Given the description of an element on the screen output the (x, y) to click on. 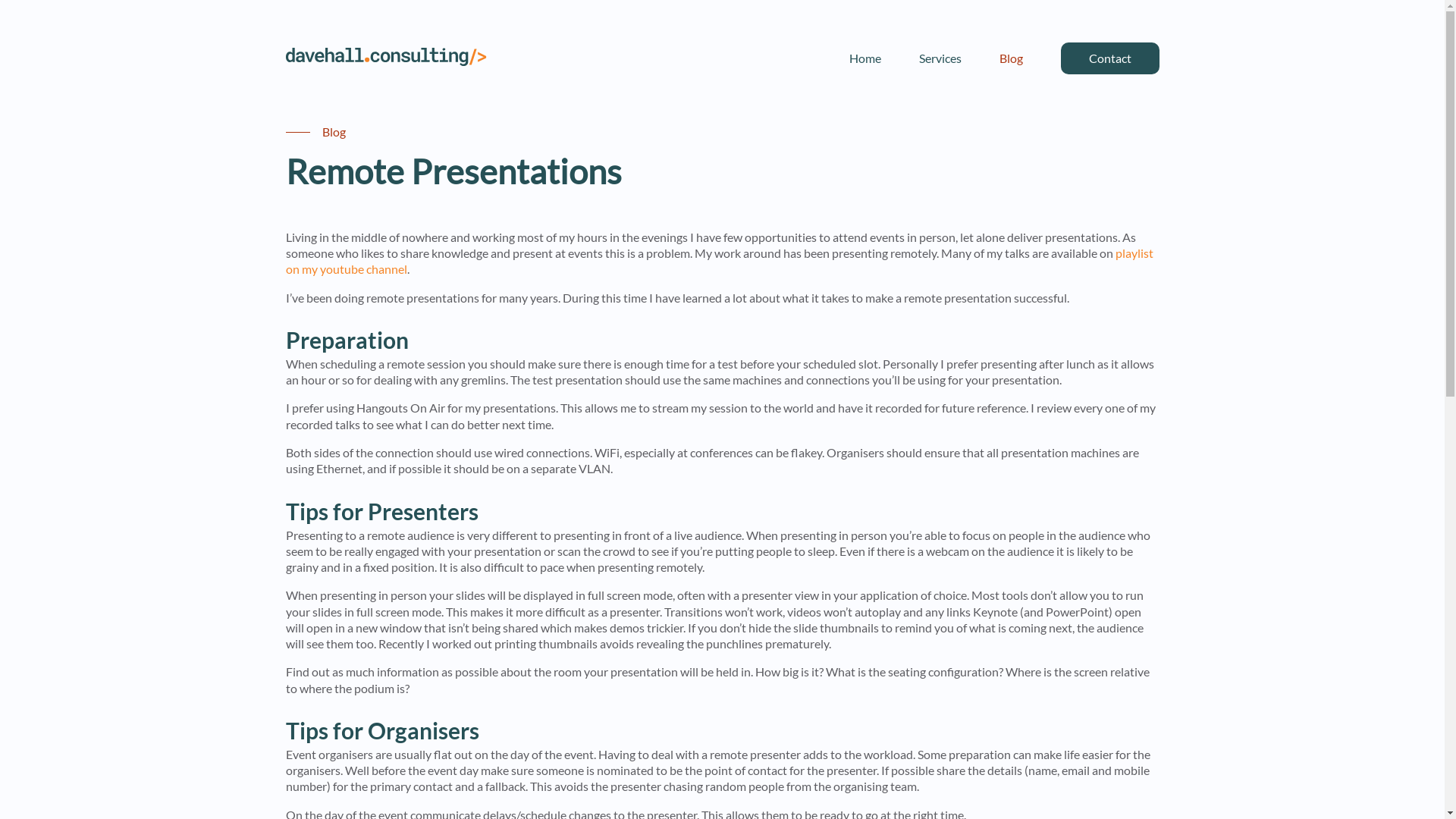
Services Element type: text (939, 57)
Logo Dave Hall Consulting Element type: text (385, 57)
Home Element type: text (864, 57)
playlist on my youtube channel Element type: text (718, 260)
Contact Element type: text (1109, 58)
Blog Element type: text (1010, 57)
